Given the description of an element on the screen output the (x, y) to click on. 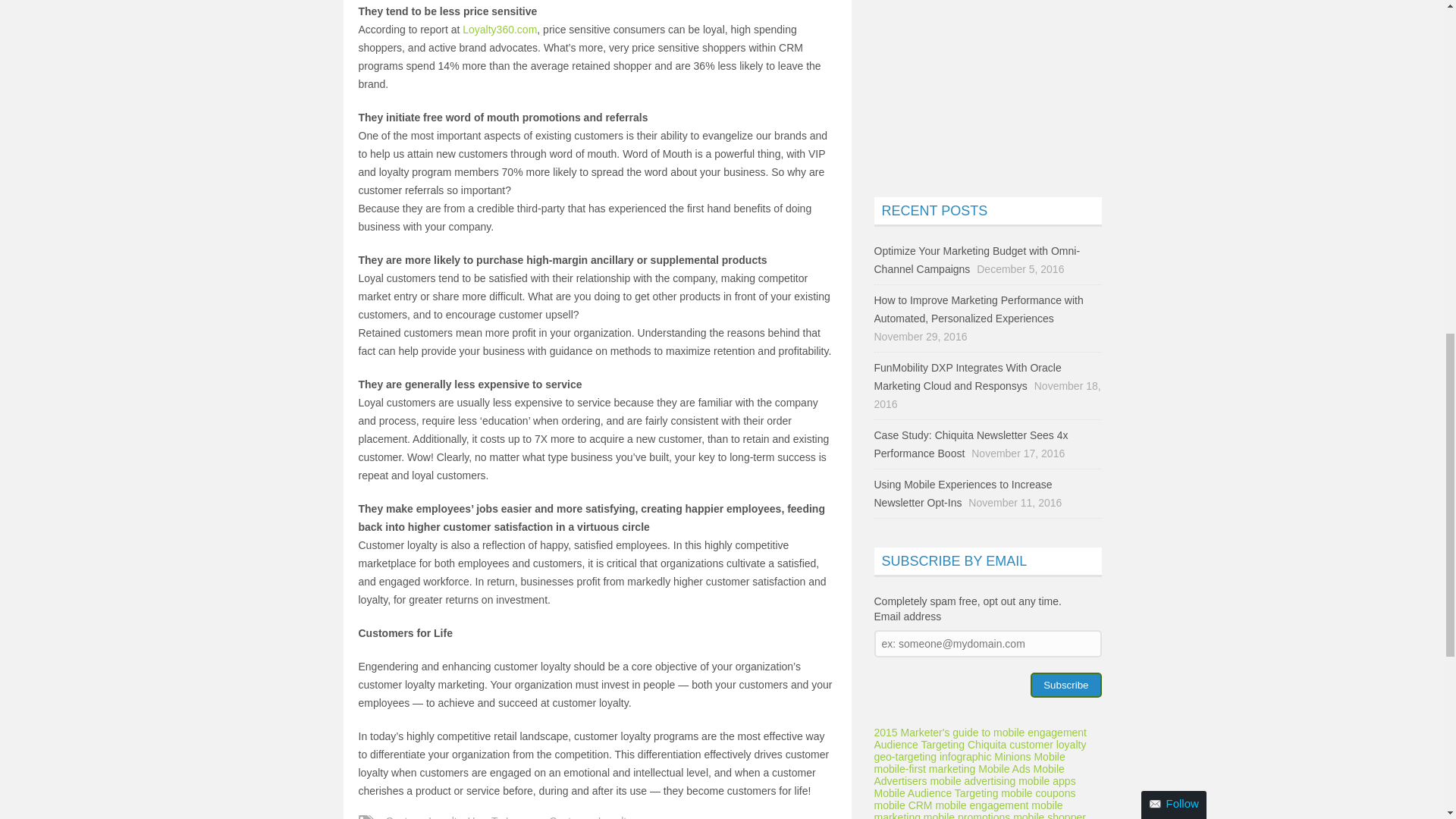
2015 Marketer's guide to mobile engagement (979, 732)
Mobile Audience Targeting (935, 793)
Using Mobile Experiences to Increase Newsletter Opt-Ins (962, 493)
Subscribe me! (1251, 163)
mobile engagement (980, 805)
Optimize Your Marketing Budget with Omni-Channel Campaigns (976, 259)
mobile-first marketing (924, 768)
mobile marketing (967, 809)
Subscribe (1065, 684)
customer loyalty (1047, 744)
Minions (1012, 756)
mobile advertising (972, 780)
mobile coupons (1038, 793)
geo-targeting (904, 756)
infographic (965, 756)
